Given the description of an element on the screen output the (x, y) to click on. 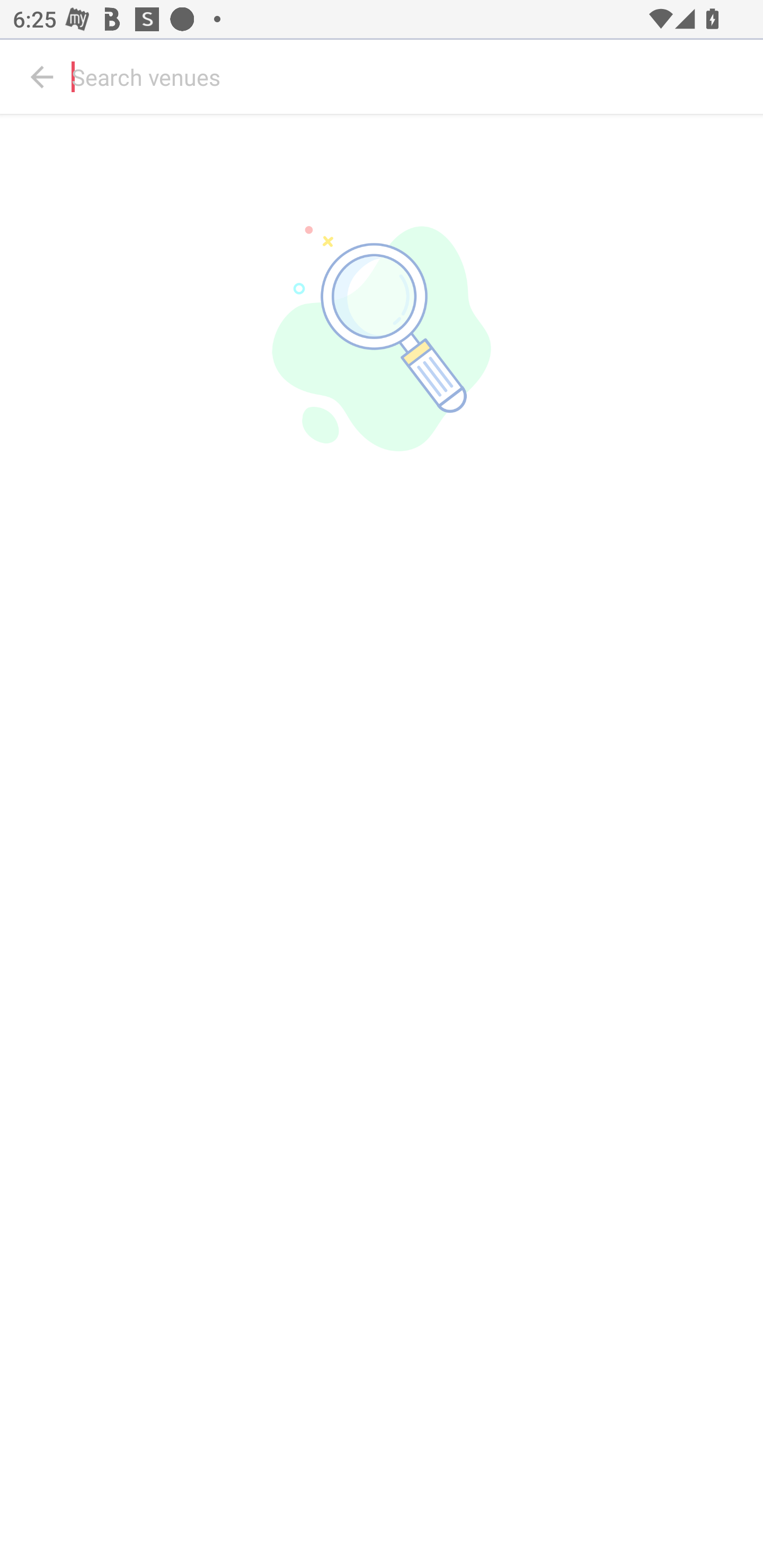
Back (42, 76)
Search venues (413, 76)
